Given the description of an element on the screen output the (x, y) to click on. 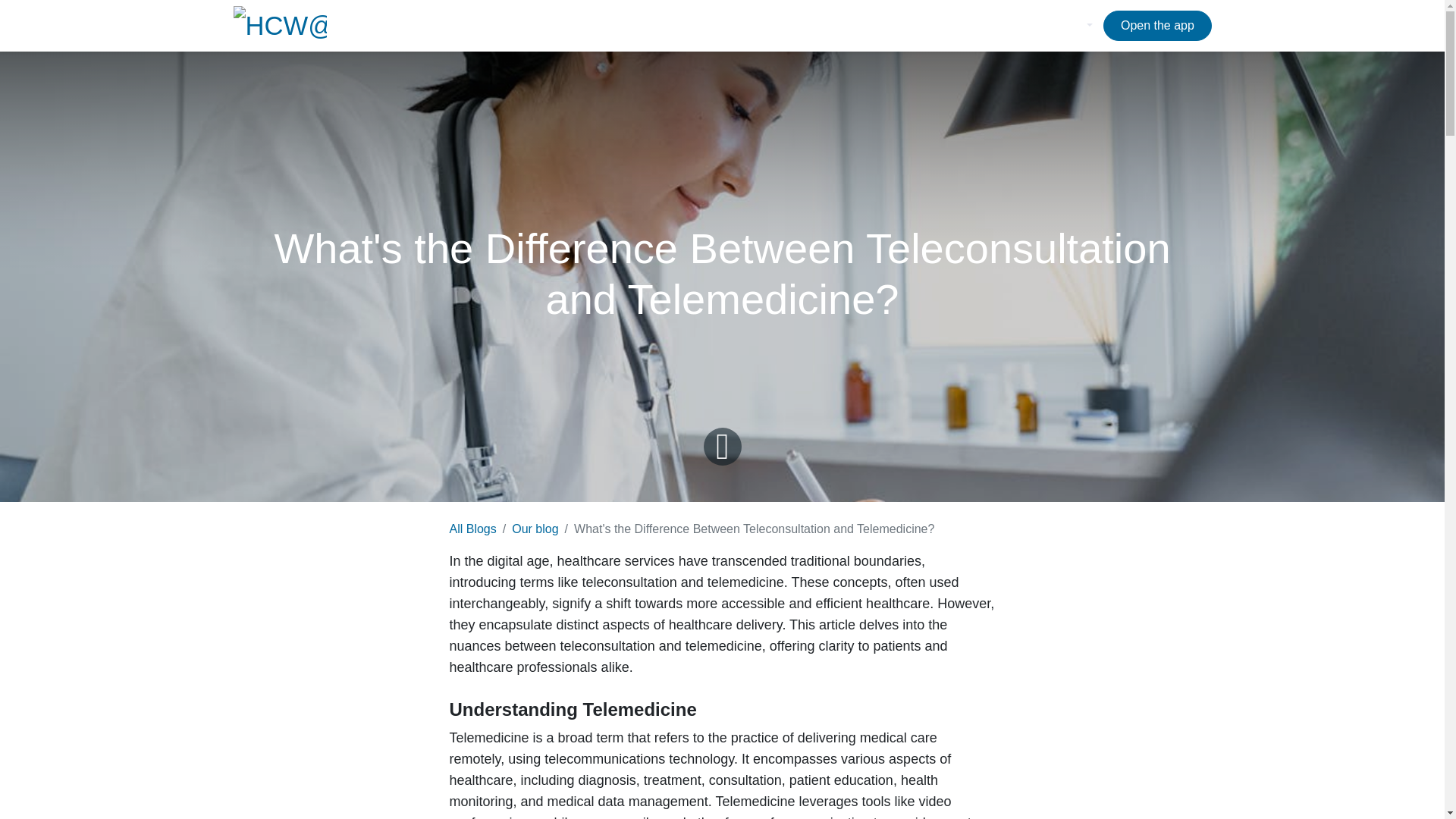
Our blog (534, 528)
Open the app (1157, 25)
All Blogs (472, 528)
